Given the description of an element on the screen output the (x, y) to click on. 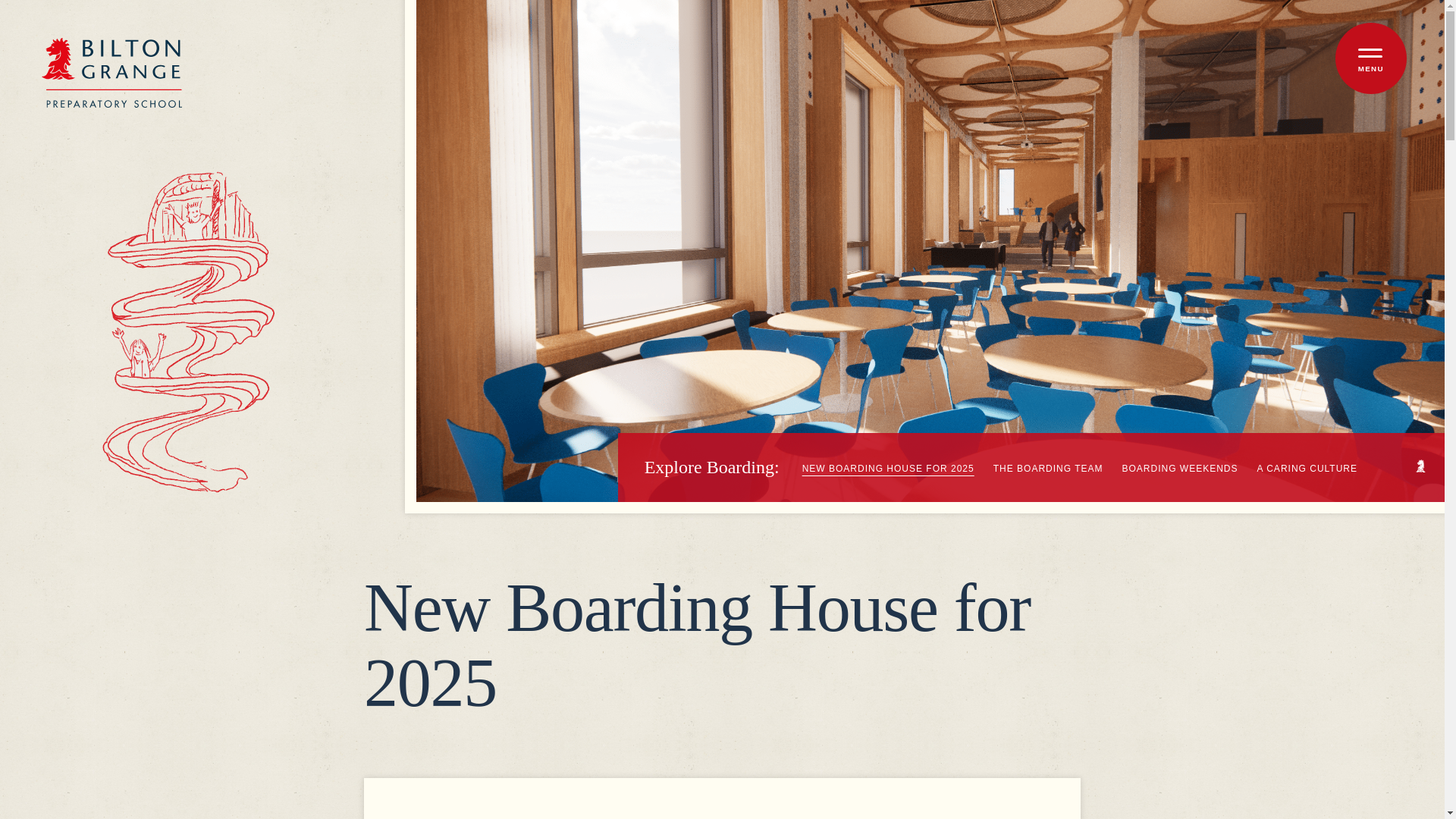
NEW BOARDING HOUSE FOR 2025 (888, 468)
BOARDING WEEKENDS (1180, 468)
Explore Boarding: (711, 467)
A CARING CULTURE (1306, 468)
THE BOARDING TEAM (1047, 468)
